Given the description of an element on the screen output the (x, y) to click on. 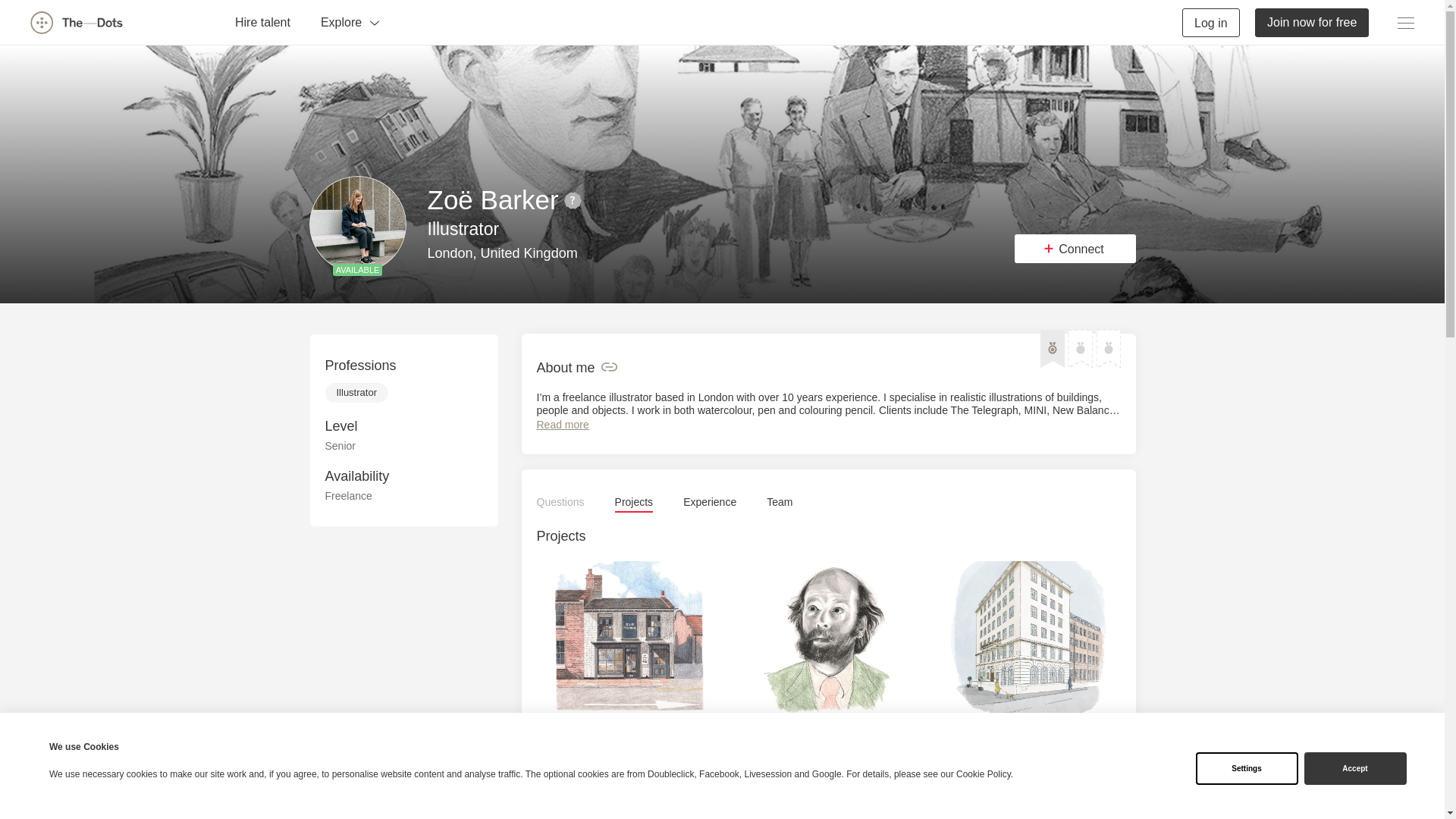
Log in (1211, 21)
Questions (561, 502)
Team (779, 502)
Explore (350, 21)
This member has been featured! Want to get featured too? (1052, 348)
Join now for free (1311, 21)
Hire talent (261, 21)
Projects (633, 502)
Experience (709, 502)
Connect (1074, 248)
